Given the description of an element on the screen output the (x, y) to click on. 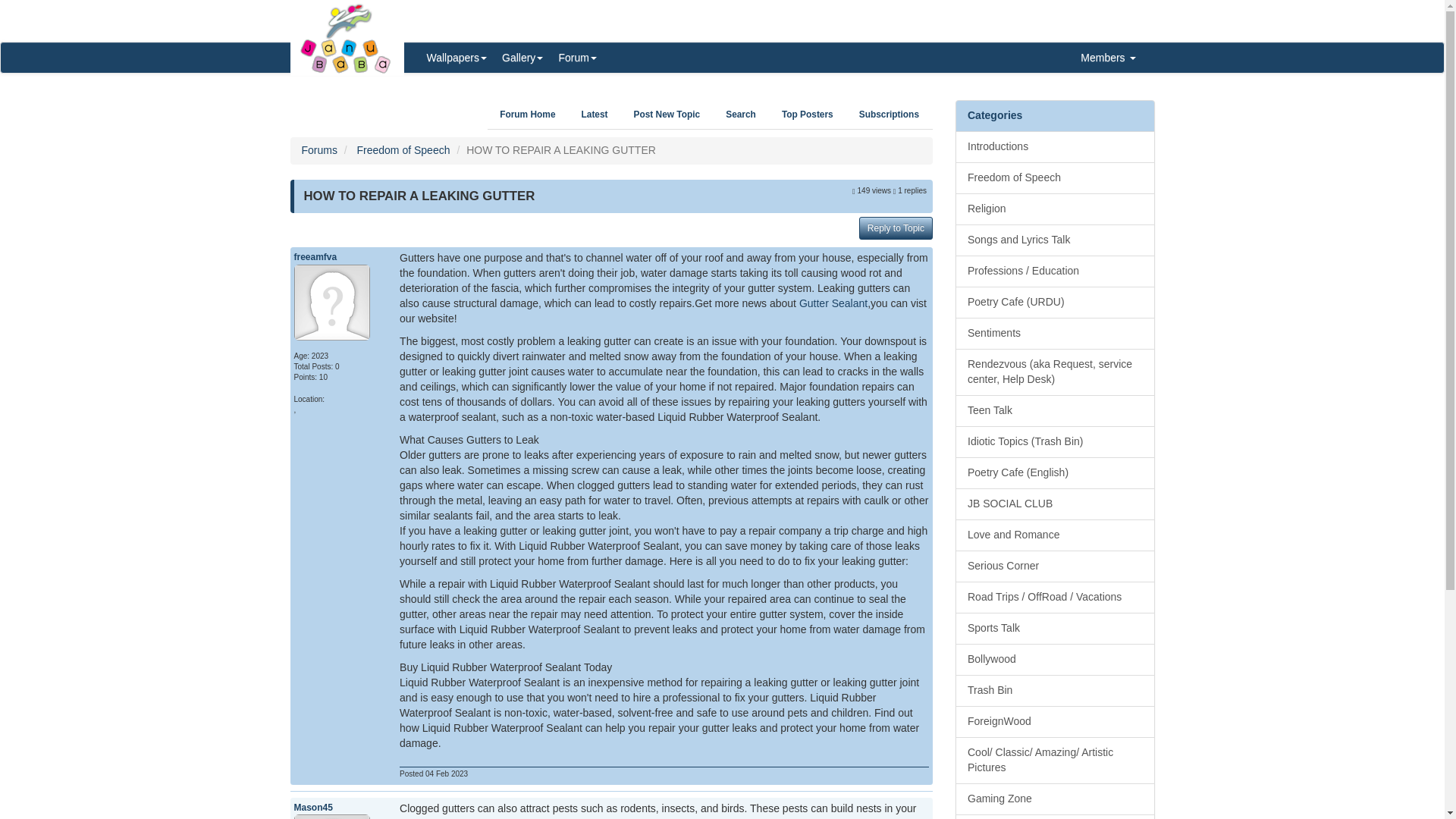
Gallery (522, 57)
Forum (577, 57)
Wallpapers (457, 57)
